Given the description of an element on the screen output the (x, y) to click on. 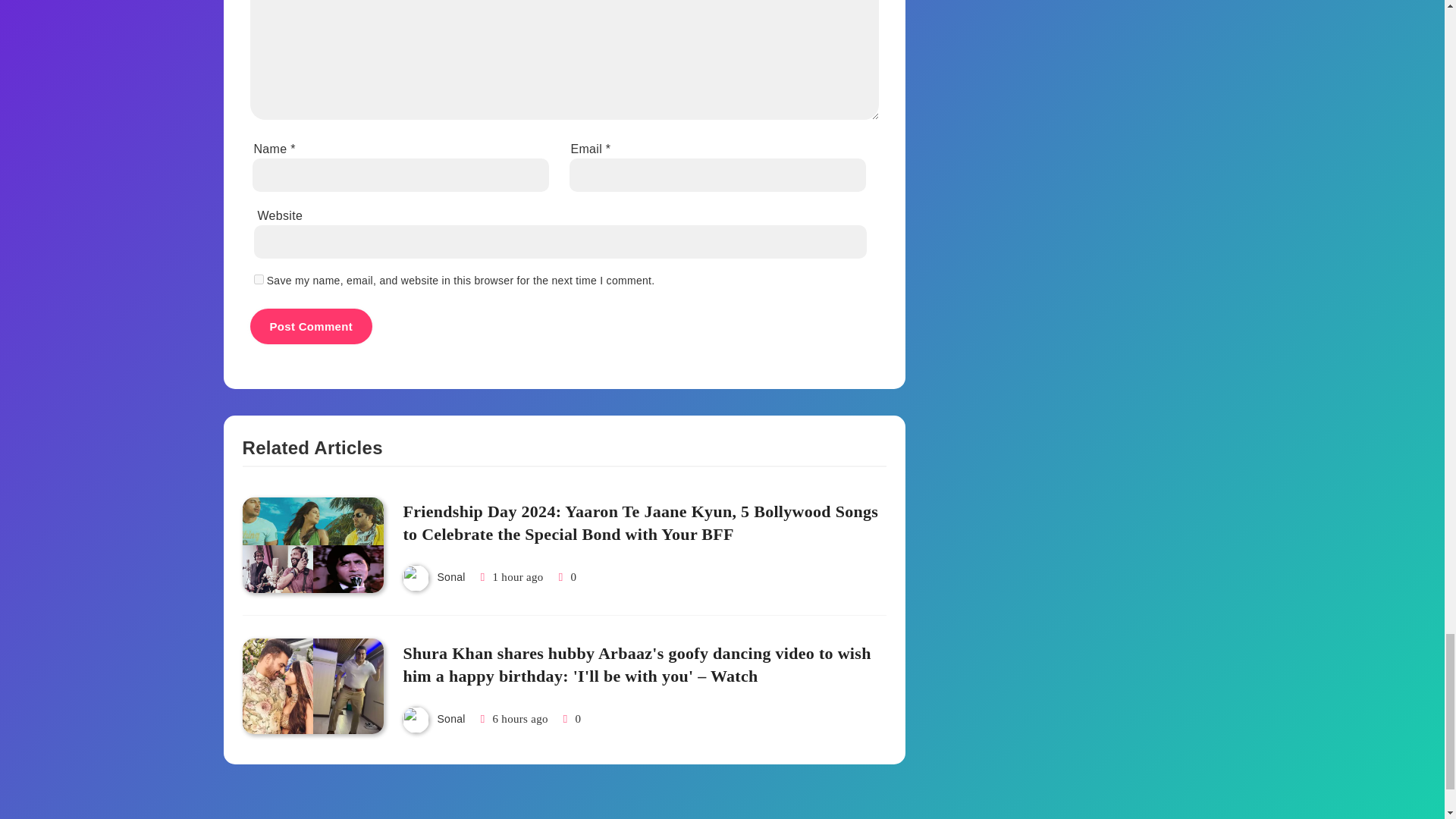
0 (565, 576)
Sonal (450, 576)
Sonal (450, 718)
Post Comment (311, 325)
1 hour ago (518, 576)
Post Comment (311, 325)
yes (258, 279)
